Given the description of an element on the screen output the (x, y) to click on. 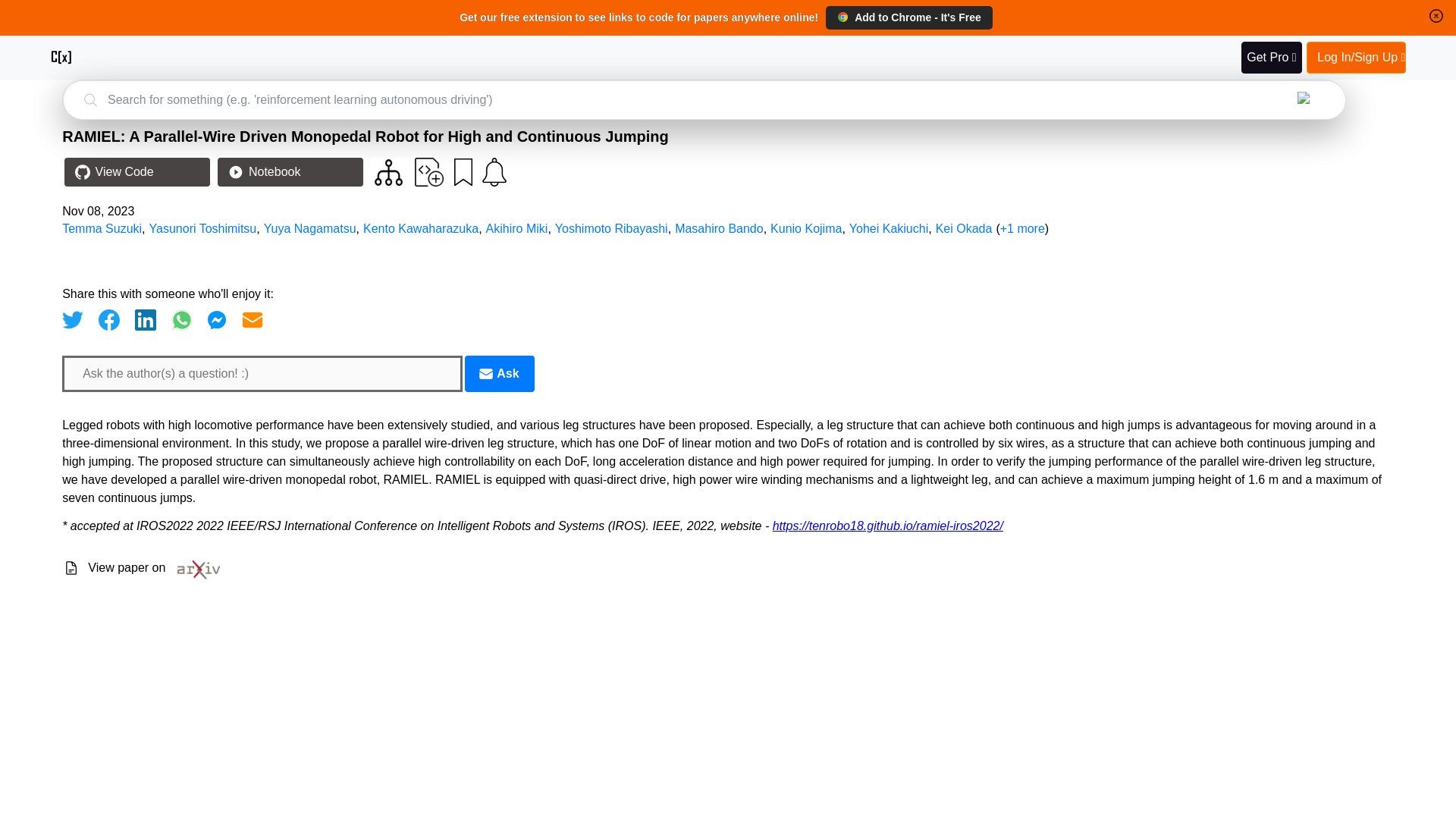
Share via Email (252, 319)
View code for similar papers (388, 171)
Yasunori Toshimitsu (203, 228)
Email Icon Ask (499, 373)
Kento Kawaharazuka (420, 228)
Kei Okada (964, 228)
Yohei Kakiuchi (888, 228)
Email Icon (486, 373)
Akihiro Miki (517, 228)
Yuya Nagamatsu (309, 228)
Add to Chrome - It's Free (908, 17)
Kunio Kojima (805, 228)
View Code (136, 172)
Temma Suzuki (101, 228)
Notebook (289, 172)
